Given the description of an element on the screen output the (x, y) to click on. 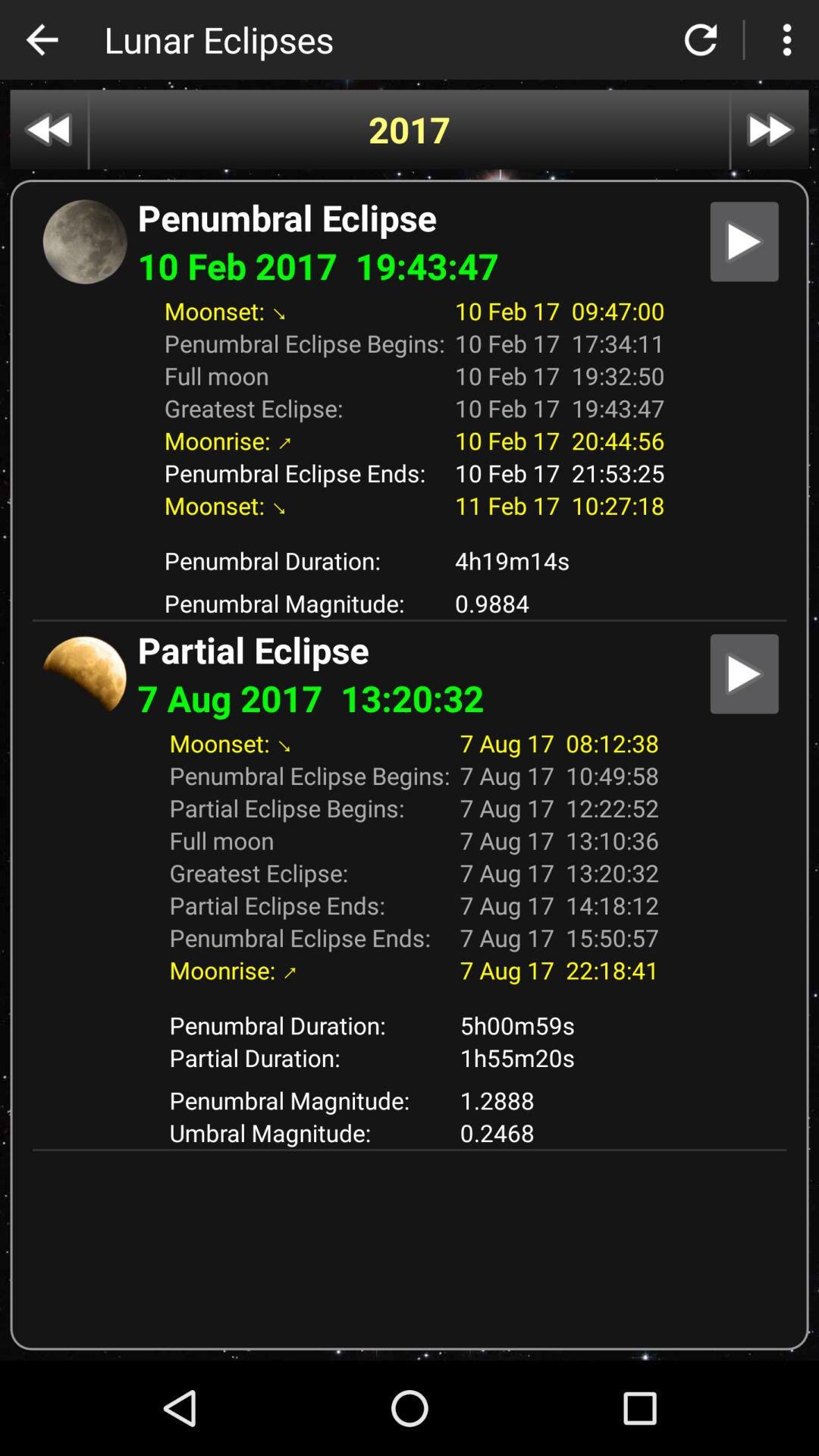
launch icon to the left of lunar eclipses icon (41, 39)
